Given the description of an element on the screen output the (x, y) to click on. 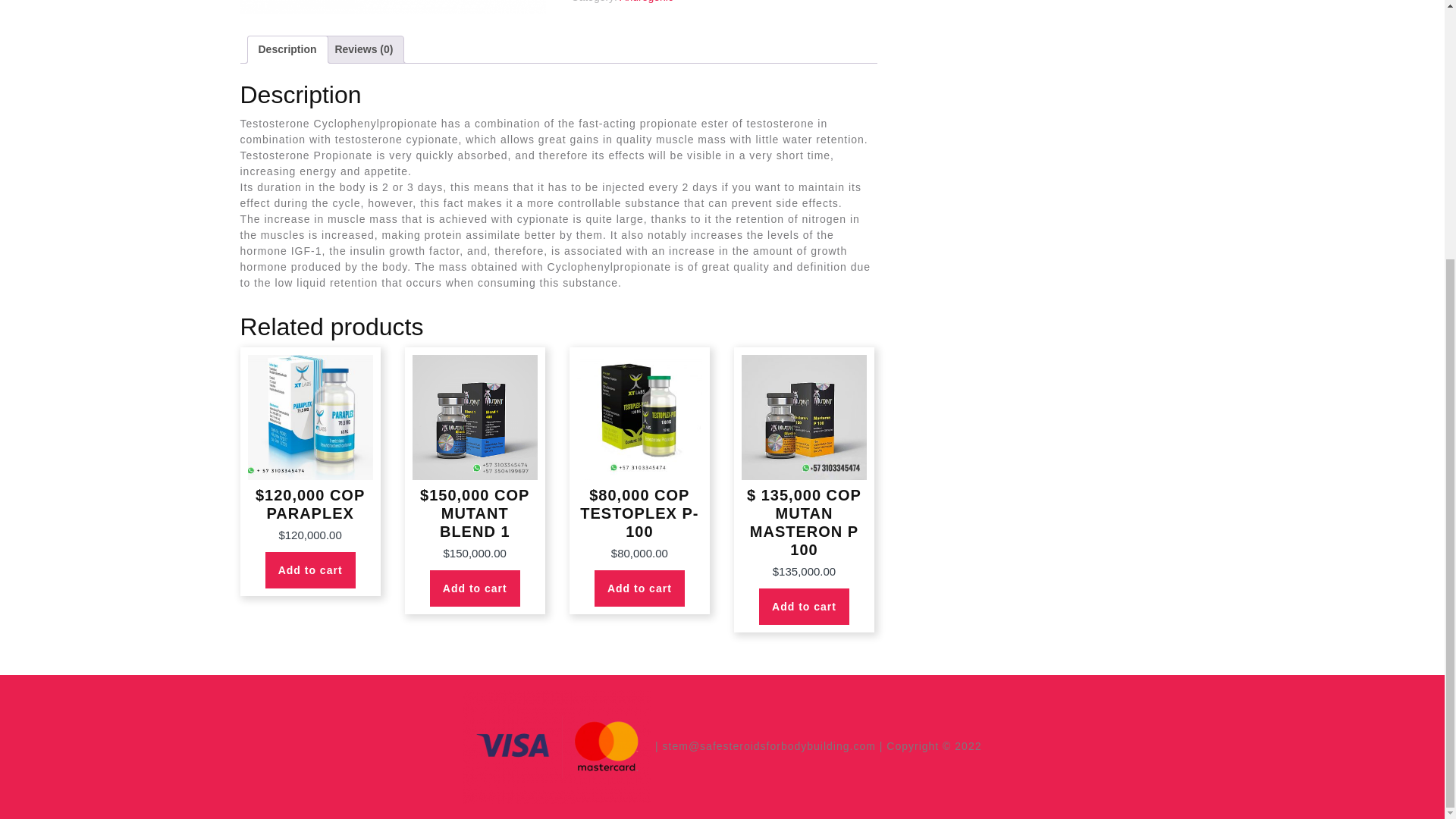
Add to cart (309, 570)
Add to cart (639, 588)
Description (286, 49)
Androgenic (646, 1)
T-XT.png (392, 7)
Add to cart (474, 588)
